Given the description of an element on the screen output the (x, y) to click on. 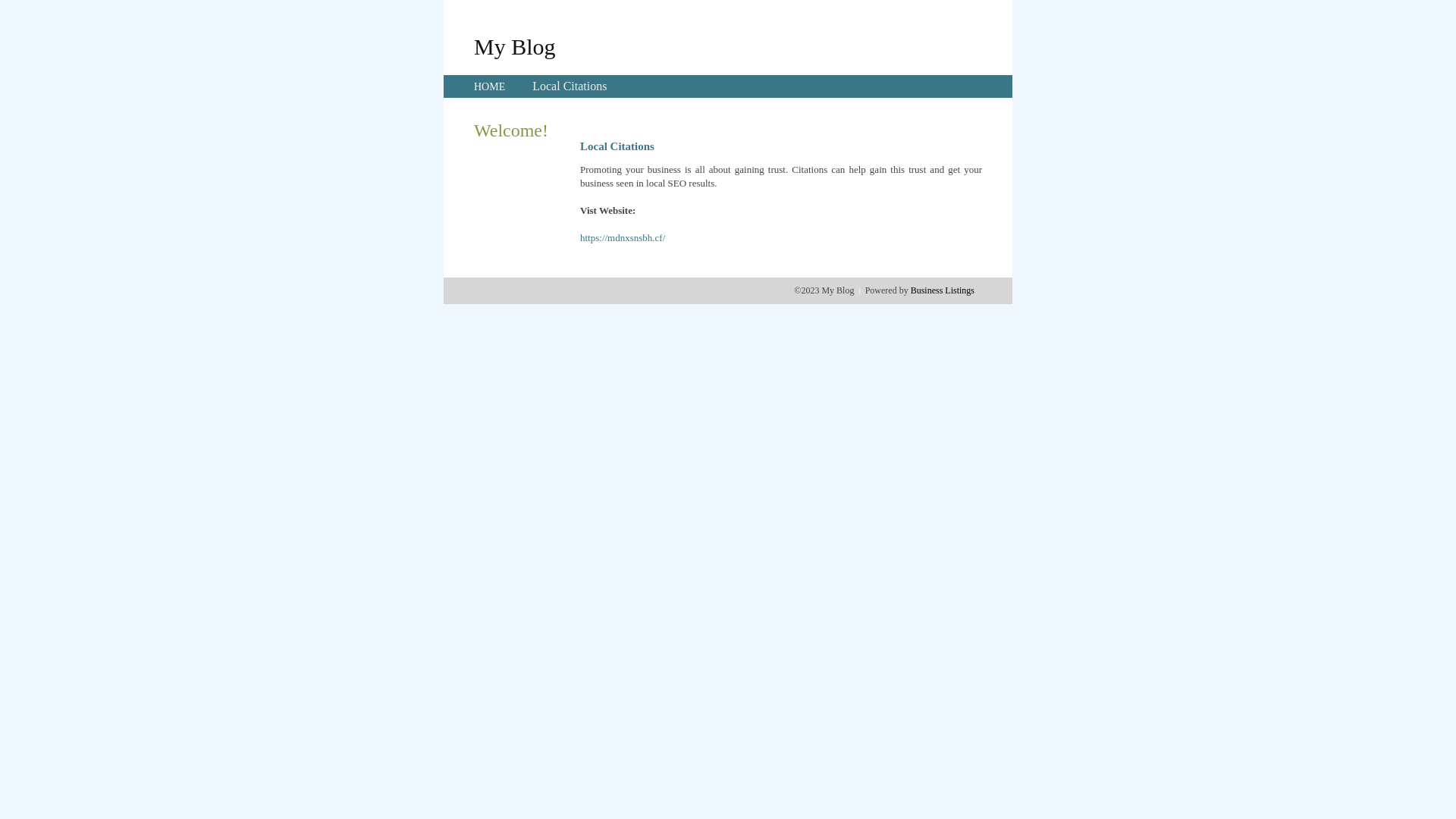
My Blog Element type: text (514, 46)
Local Citations Element type: text (569, 85)
HOME Element type: text (489, 86)
https://mdnxsnsbh.cf/ Element type: text (622, 237)
Business Listings Element type: text (942, 290)
